Given the description of an element on the screen output the (x, y) to click on. 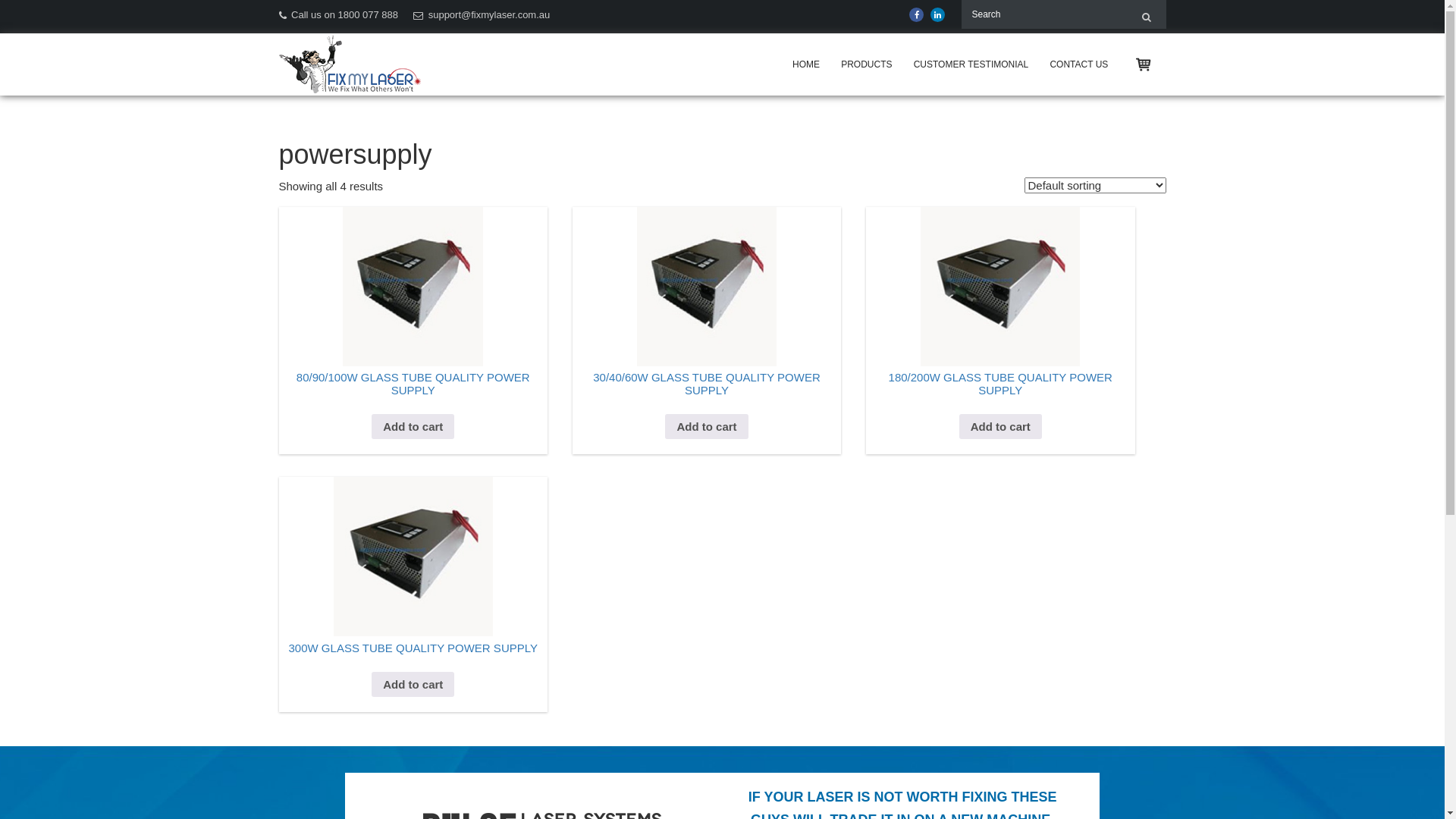
HOME Element type: text (805, 64)
80/90/100W GLASS TUBE QUALITY POWER SUPPLY Element type: text (413, 399)
300W GLASS TUBE QUALITY POWER SUPPLY Element type: text (413, 663)
Add to cart Element type: text (412, 684)
180/200W GLASS TUBE QUALITY POWER SUPPLY Element type: text (1000, 399)
Add to cart Element type: text (412, 426)
30/40/60W GLASS TUBE QUALITY POWER SUPPLY Element type: text (706, 399)
support@fixmylaser.com.au Element type: text (481, 14)
Call us on 1800 077 888 Element type: text (338, 14)
CONTACT US Element type: text (1078, 64)
PRODUCTS Element type: text (865, 64)
Add to cart Element type: text (1000, 426)
Add to cart Element type: text (706, 426)
CUSTOMER TESTIMONIAL Element type: text (971, 64)
